Given the description of an element on the screen output the (x, y) to click on. 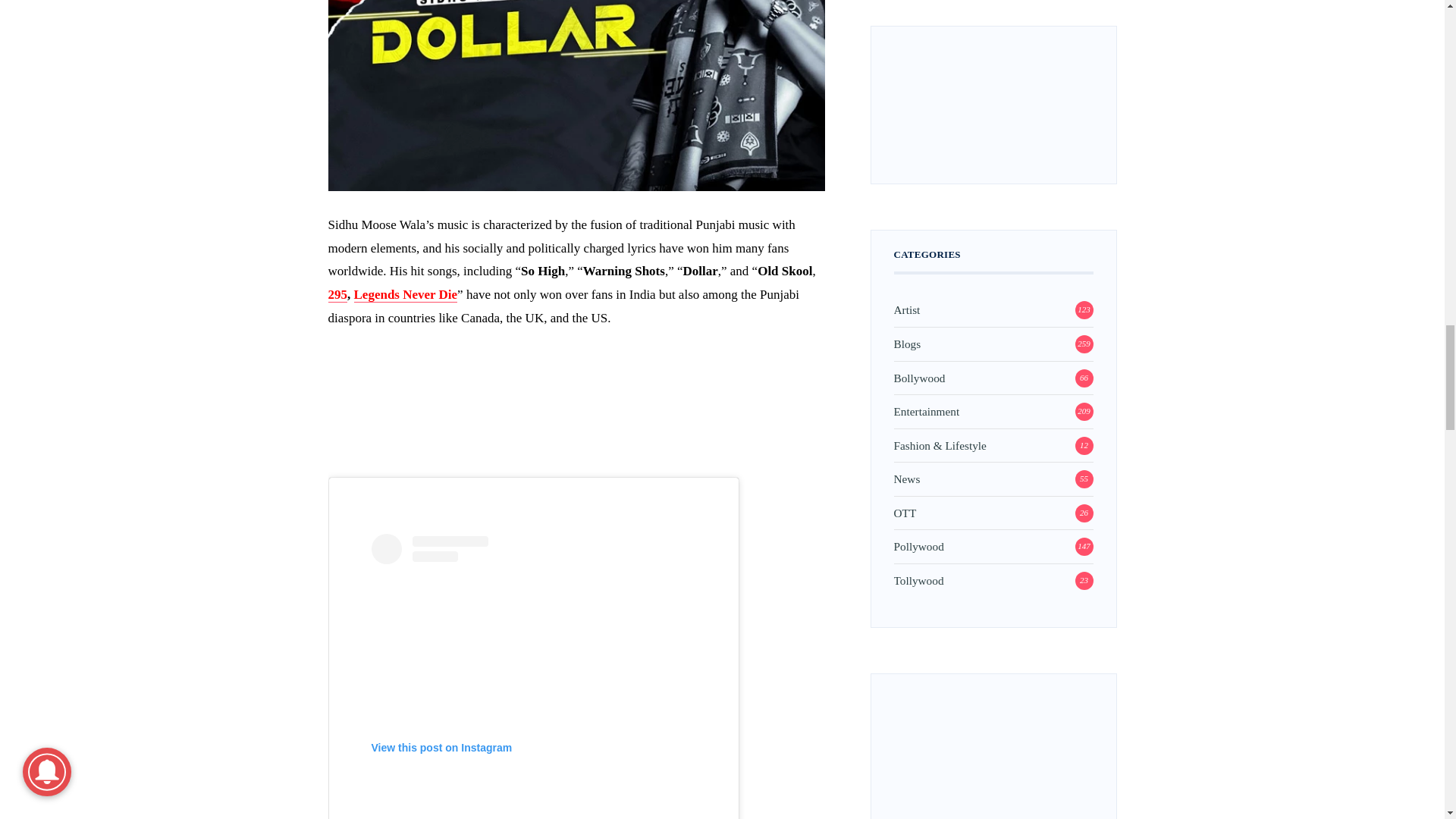
Legends Never Die (405, 294)
Advertisement (575, 414)
295 (337, 294)
